Given the description of an element on the screen output the (x, y) to click on. 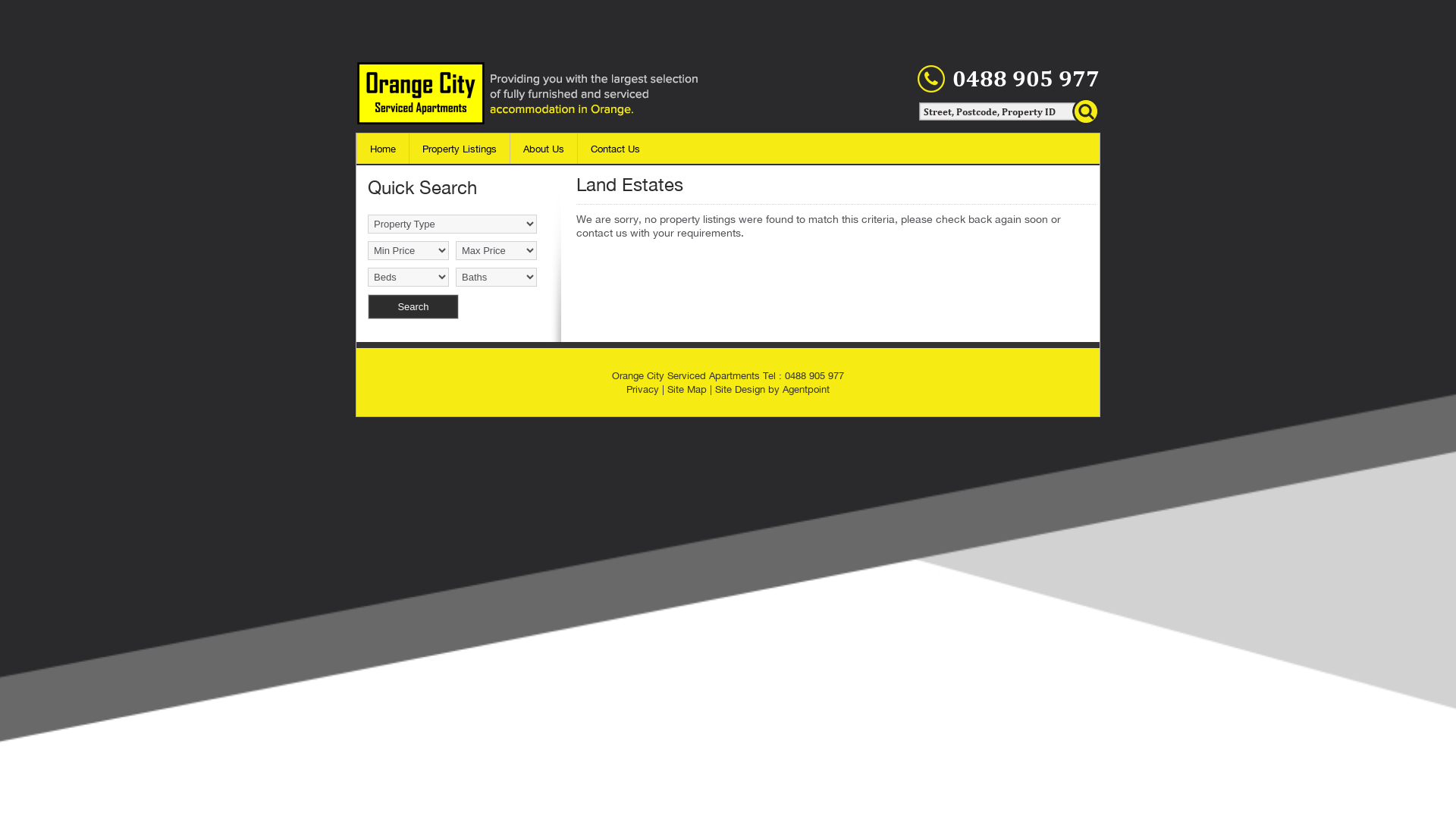
About Us Element type: text (543, 148)
Home Element type: text (382, 148)
Property Listings Element type: text (459, 148)
GO Element type: text (1085, 111)
Site Map Element type: text (686, 388)
Search Element type: text (412, 306)
Contact Us Element type: text (614, 148)
Agentpoint Element type: text (805, 388)
Privacy Element type: text (642, 388)
